Given the description of an element on the screen output the (x, y) to click on. 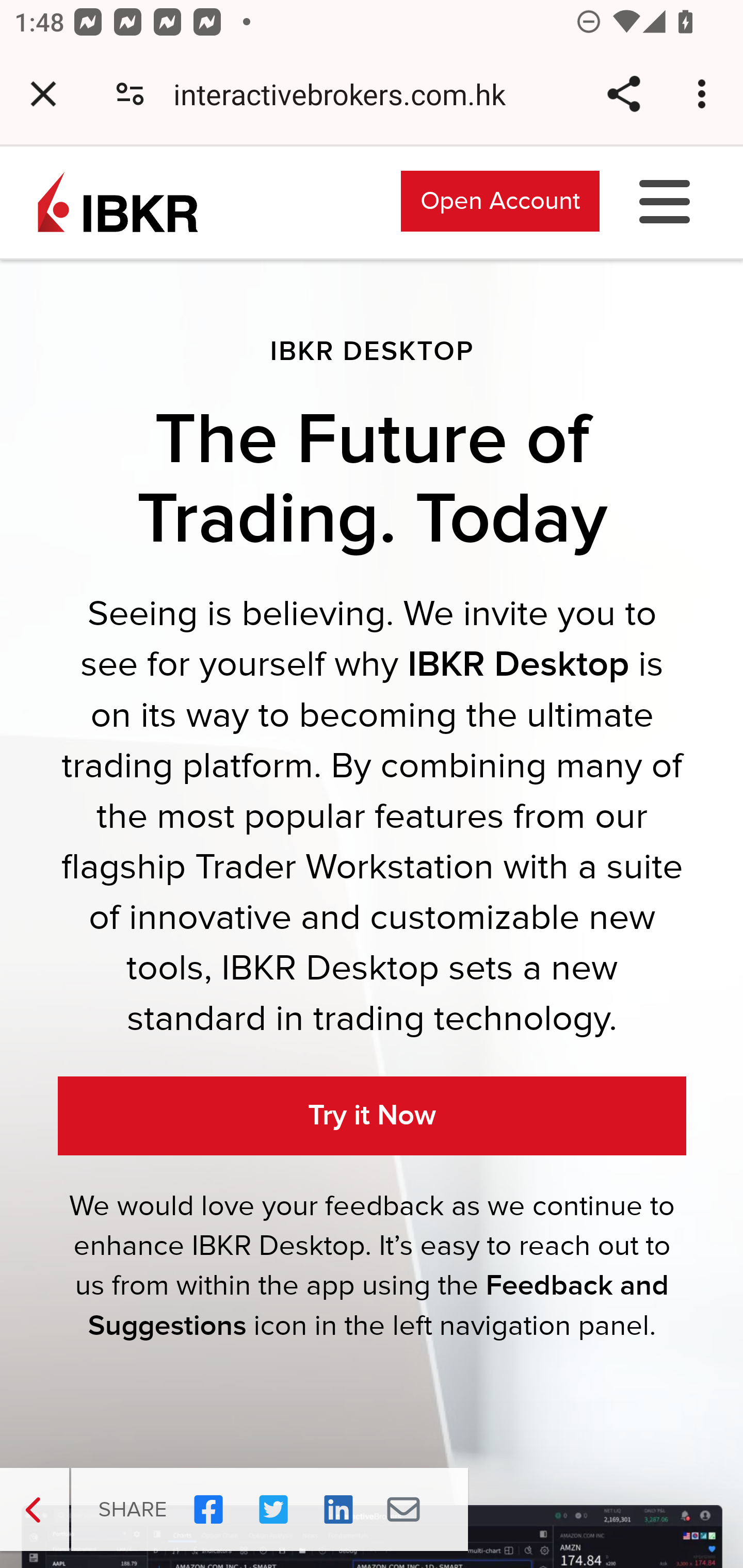
Close tab (43, 93)
Share (623, 93)
Customize and control Google Chrome (705, 93)
Connection is secure (129, 93)
interactivebrokers.com.hk (346, 93)
Interactive Brokers Home (117, 200)
Open Account (500, 200)
Toggle Navigation (665, 200)
Try it Now (372, 1115)
Share on Facebook  (208, 1509)
Share on Twitter  (272, 1509)
Share on Linkedin  (338, 1509)
Share by Email  (403, 1509)
